Given the description of an element on the screen output the (x, y) to click on. 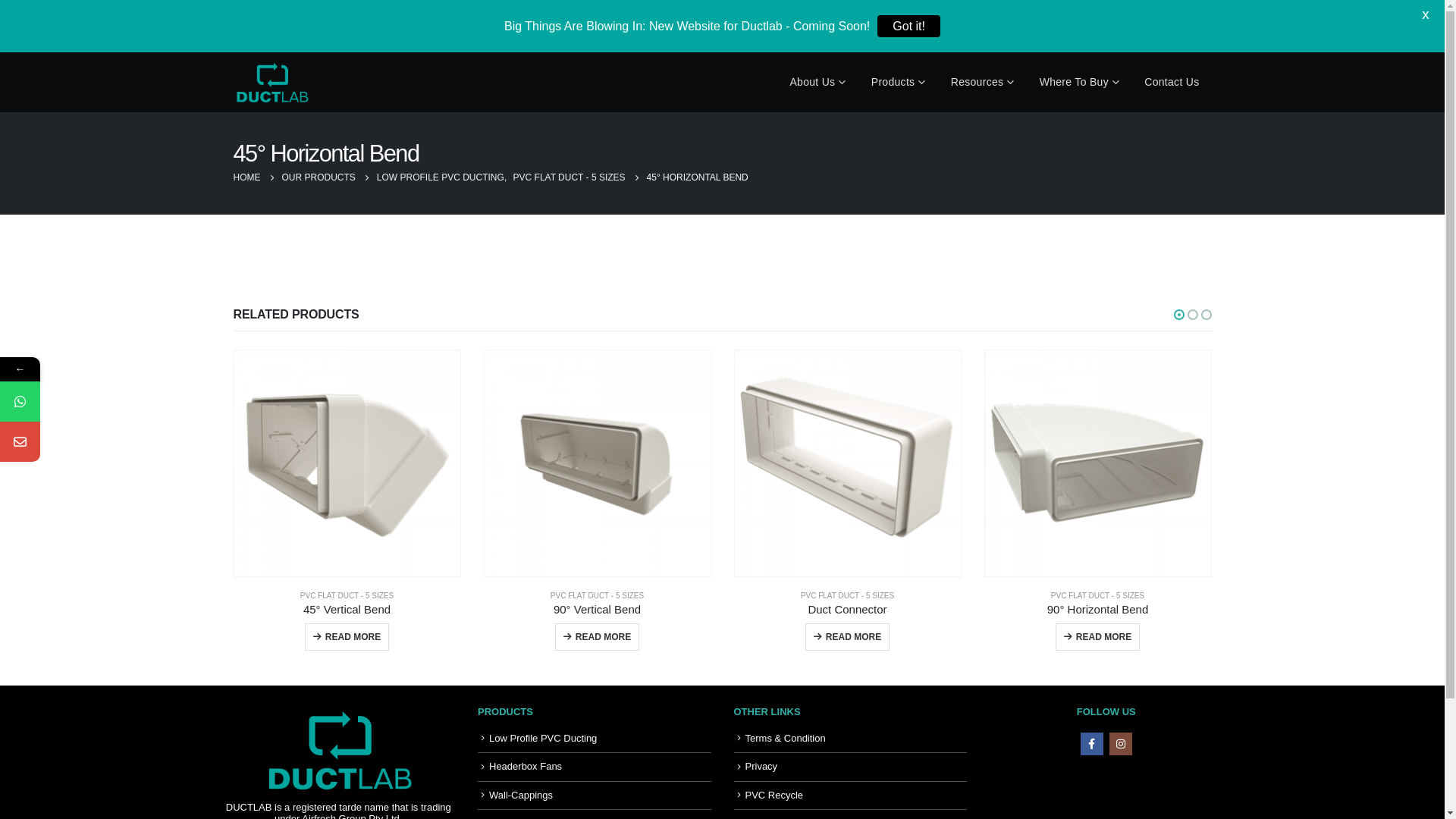
OUR PRODUCTS Element type: text (318, 177)
PVC Recycle Element type: text (773, 794)
READ MORE Element type: text (847, 636)
PVC FLAT DUCT - 5 SIZES Element type: text (569, 177)
Terms & Condition Element type: text (784, 737)
Instagram Element type: text (1120, 743)
Products Element type: text (898, 81)
Email Element type: text (92, 441)
WhatsApp Element type: hover (20, 401)
Email Element type: hover (20, 441)
Contact Us Element type: text (1171, 81)
Privacy Element type: text (760, 765)
READ MORE Element type: text (346, 636)
Got it! Element type: text (908, 26)
HOME Element type: text (246, 177)
Headerbox Fans Element type: text (525, 765)
Duct Connector Element type: text (847, 609)
PVC FLAT DUCT - 5 SIZES Element type: text (1097, 595)
READ MORE Element type: text (597, 636)
PVC FLAT DUCT - 5 SIZES Element type: text (346, 595)
PVC FLAT DUCT - 5 SIZES Element type: text (596, 595)
About Us Element type: text (817, 81)
Resources Element type: text (982, 81)
READ MORE Element type: text (1097, 636)
PVC FLAT DUCT - 5 SIZES Element type: text (847, 595)
Facebook Element type: text (1091, 743)
Where To Buy Element type: text (1079, 81)
LOW PROFILE PVC DUCTING Element type: text (440, 177)
WhatsApp Element type: text (92, 401)
Low Profile PVC Ducting Element type: text (542, 737)
Wall-Cappings Element type: text (520, 794)
